Given the description of an element on the screen output the (x, y) to click on. 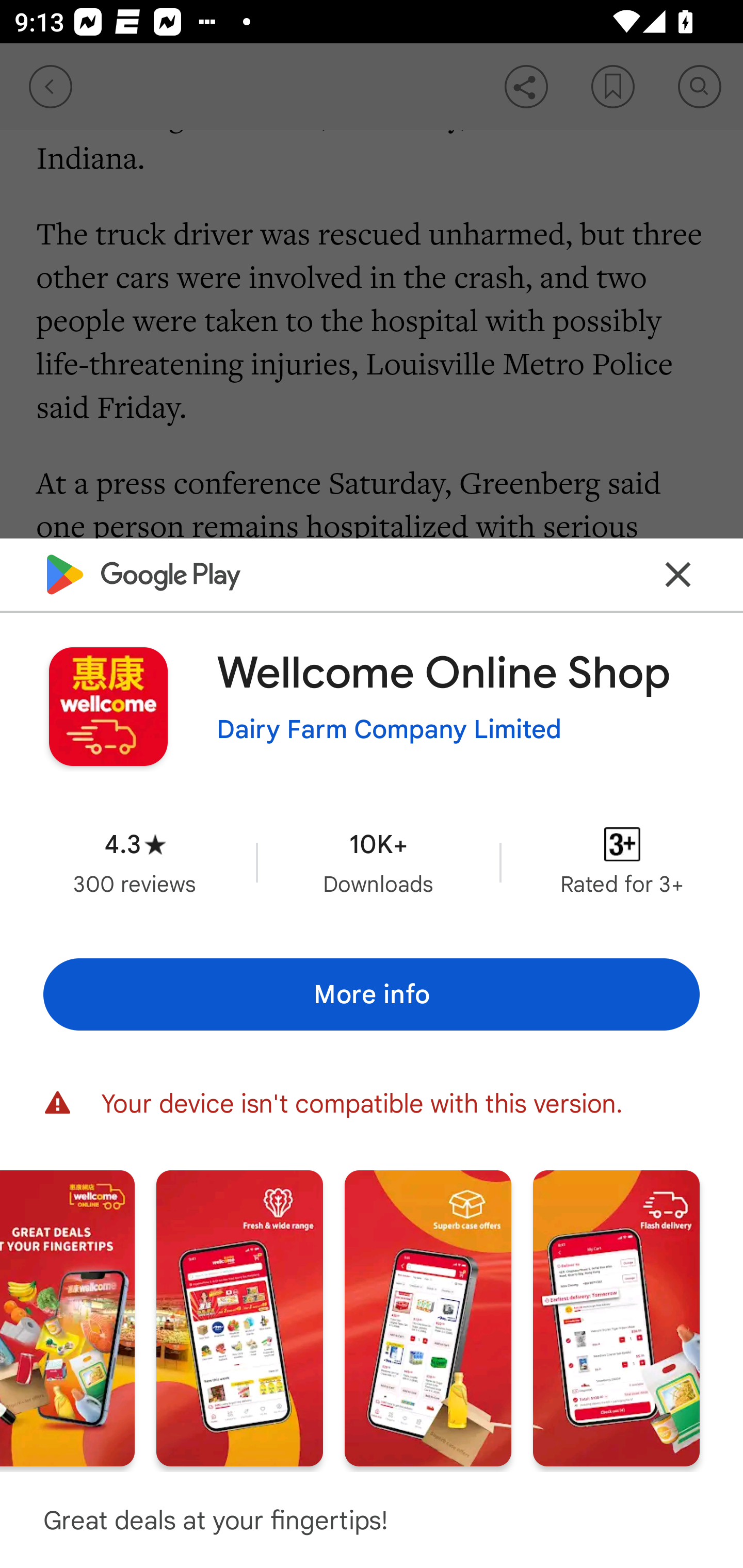
Close (677, 573)
Image of app or game icon for Wellcome Online Shop (108, 706)
Dairy Farm Company Limited (388, 729)
More info (371, 994)
Screenshot "1" of "4" (67, 1317)
Screenshot "2" of "4" (239, 1317)
Screenshot "3" of "4" (427, 1317)
Screenshot "4" of "4" (615, 1317)
